Given the description of an element on the screen output the (x, y) to click on. 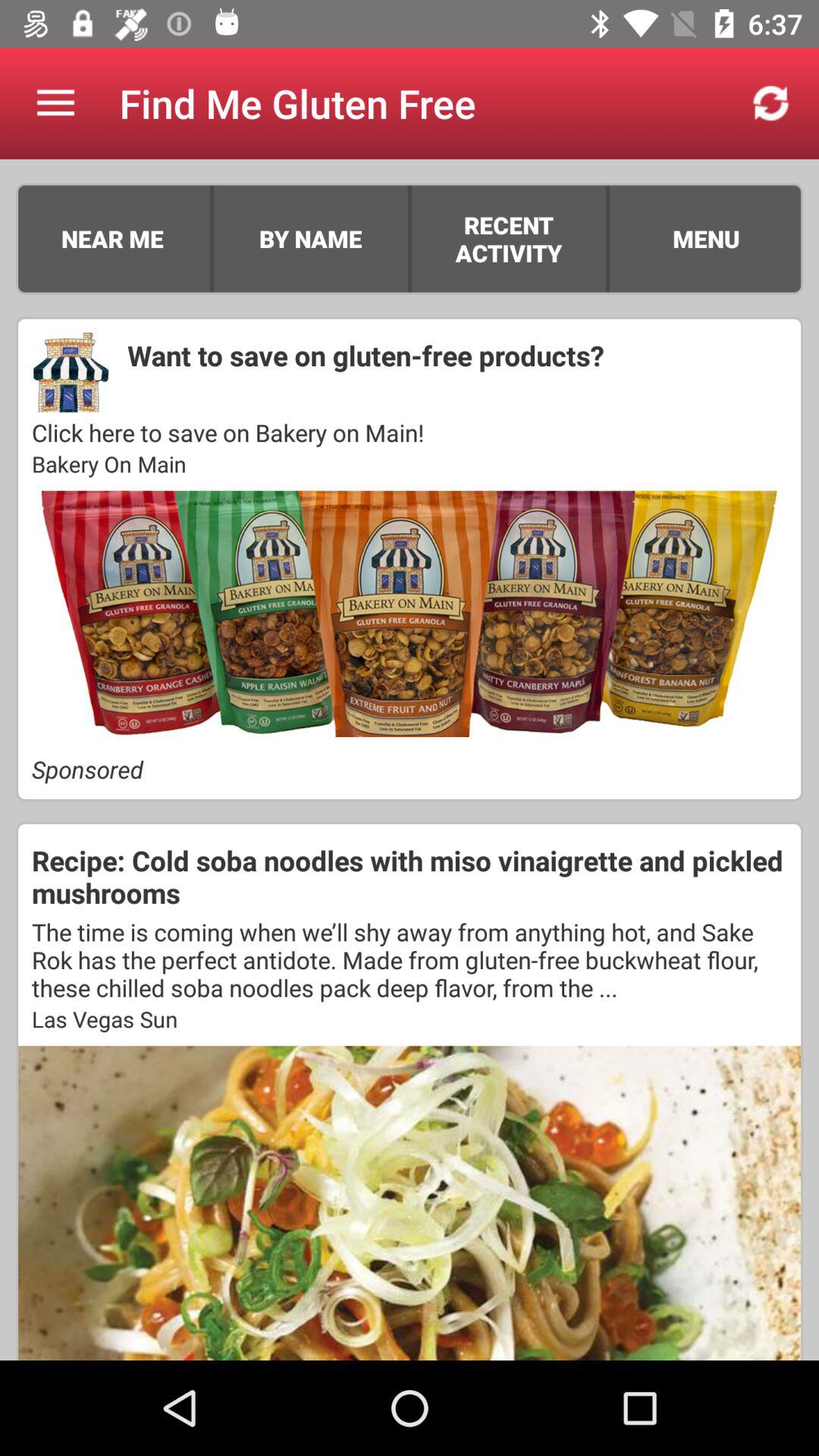
turn on icon below sponsored (409, 876)
